Given the description of an element on the screen output the (x, y) to click on. 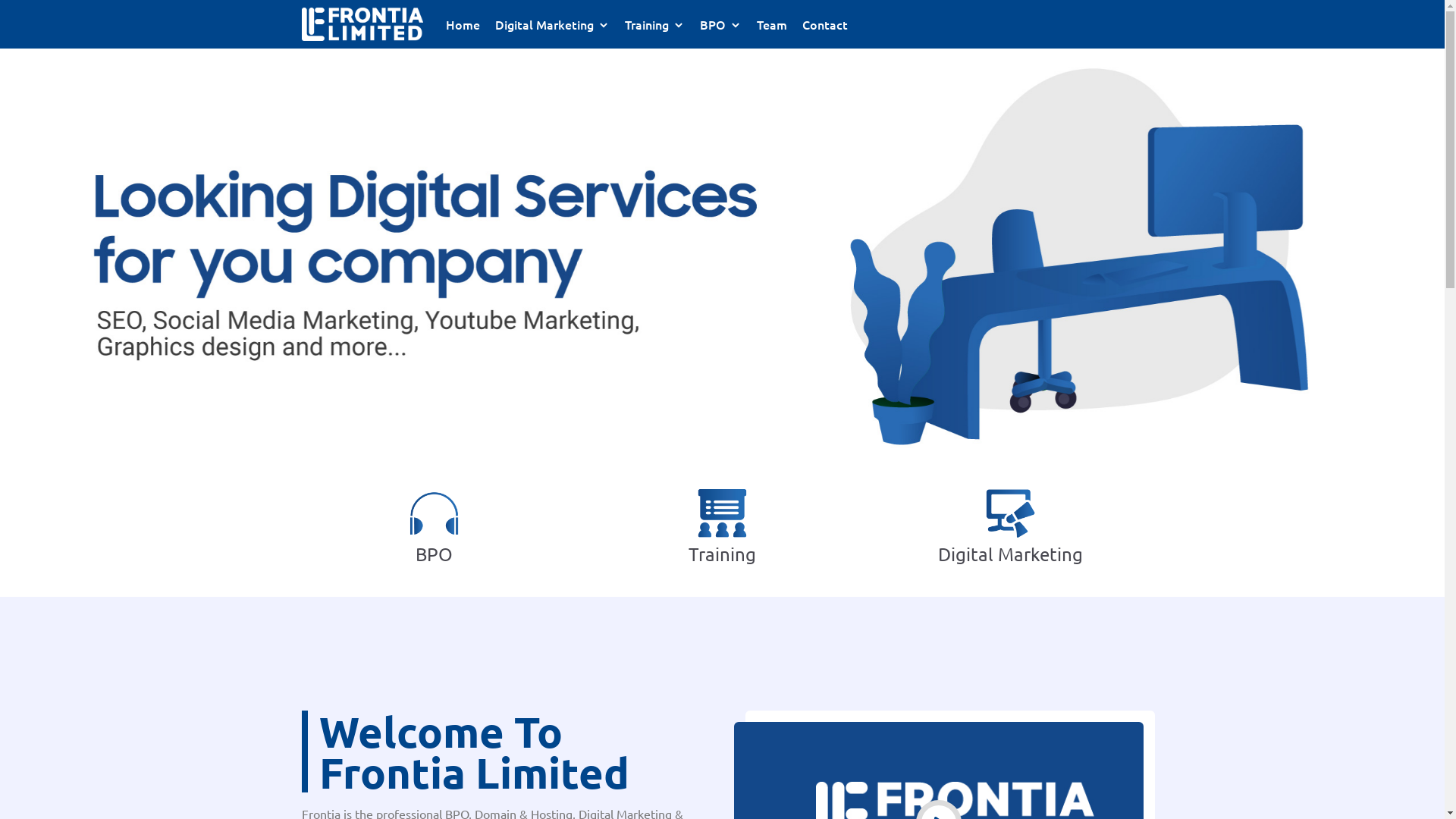
Digital Marketing Element type: text (551, 24)
Home Element type: text (462, 24)
Team Element type: text (771, 24)
Contact Element type: text (824, 24)
Training Element type: text (654, 24)
BPO Element type: text (719, 24)
